Given the description of an element on the screen output the (x, y) to click on. 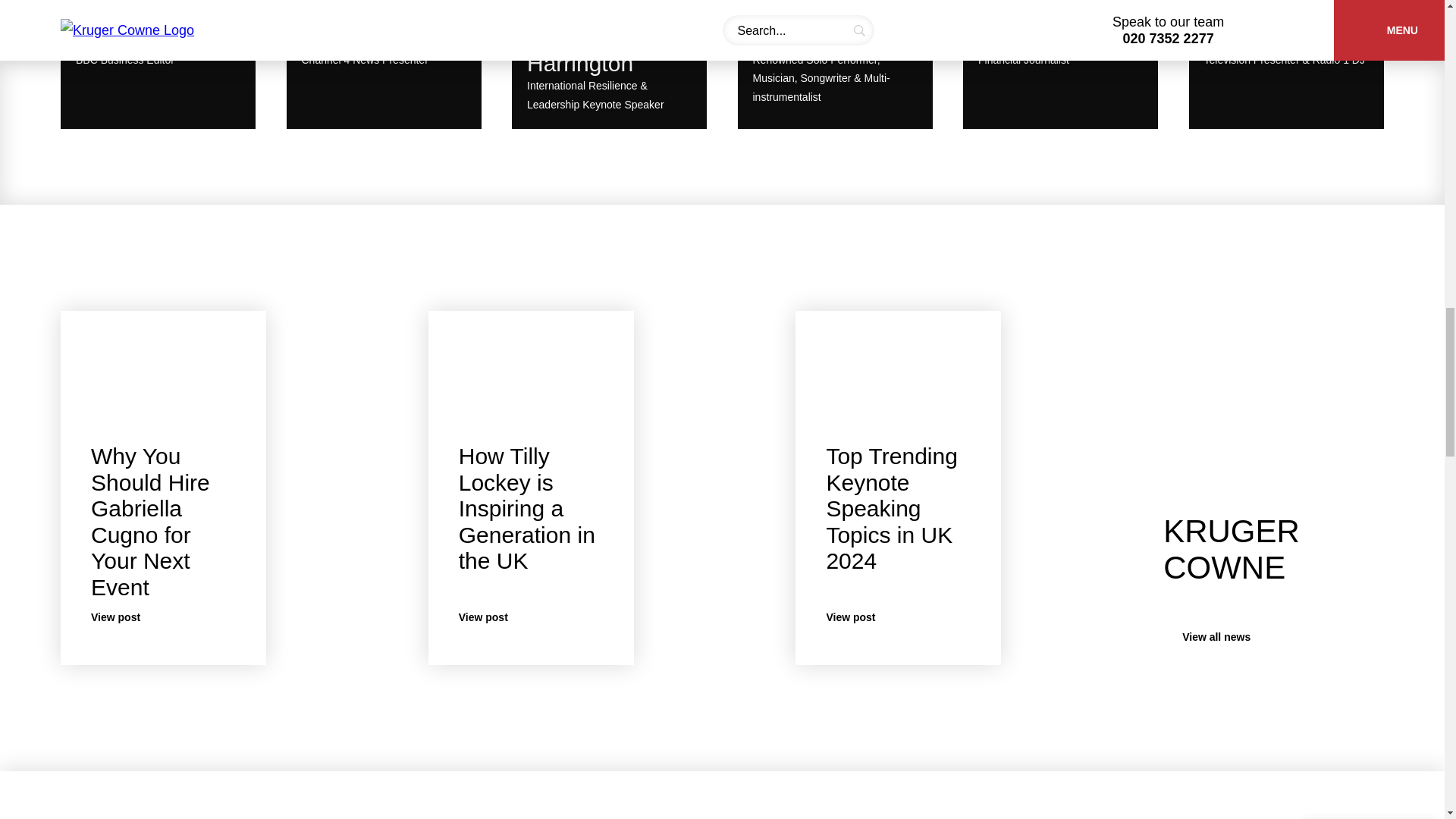
View post (898, 617)
How Tilly Lockey is Inspiring a Generation in the UK (526, 508)
View all news (158, 68)
View post (1231, 637)
View post (1059, 68)
Top Trending Keynote Speaking Topics in UK 2024 (531, 617)
